Given the description of an element on the screen output the (x, y) to click on. 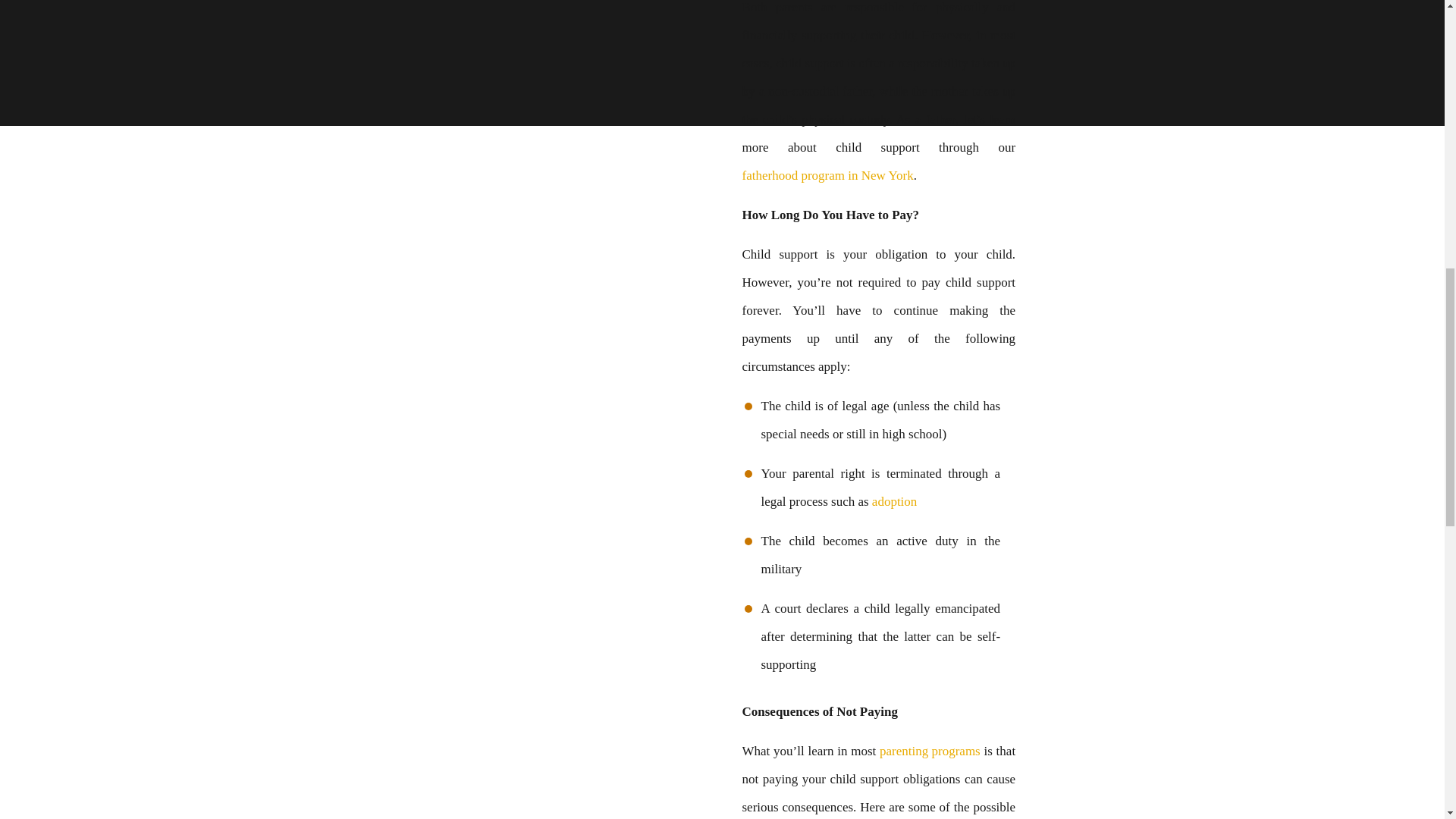
parenting programs (929, 750)
fatherhood program in New York (826, 175)
adoption (894, 501)
